Given the description of an element on the screen output the (x, y) to click on. 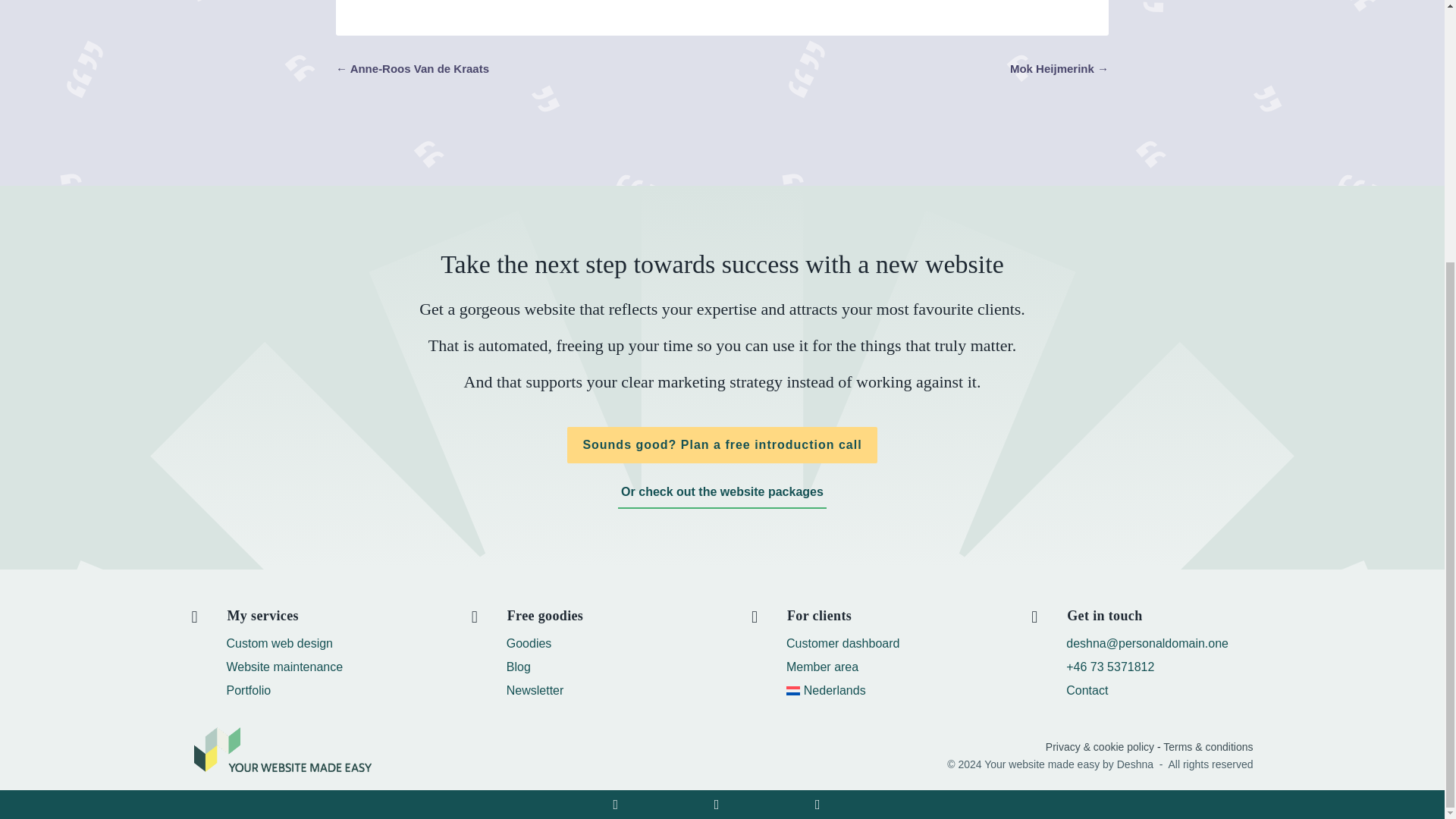
Custom web design (279, 644)
Sounds good? Plan a free introduction call (721, 444)
Website maintenance (283, 668)
Newsletter (535, 692)
Nederlands (826, 692)
Contact (1086, 692)
Goodies (528, 644)
Portfolio (247, 692)
Customer dashboard (842, 644)
Blog (518, 668)
Or check out the website packages (722, 492)
Nederlands (826, 692)
Your website made easy (281, 749)
Member area (822, 668)
